Given the description of an element on the screen output the (x, y) to click on. 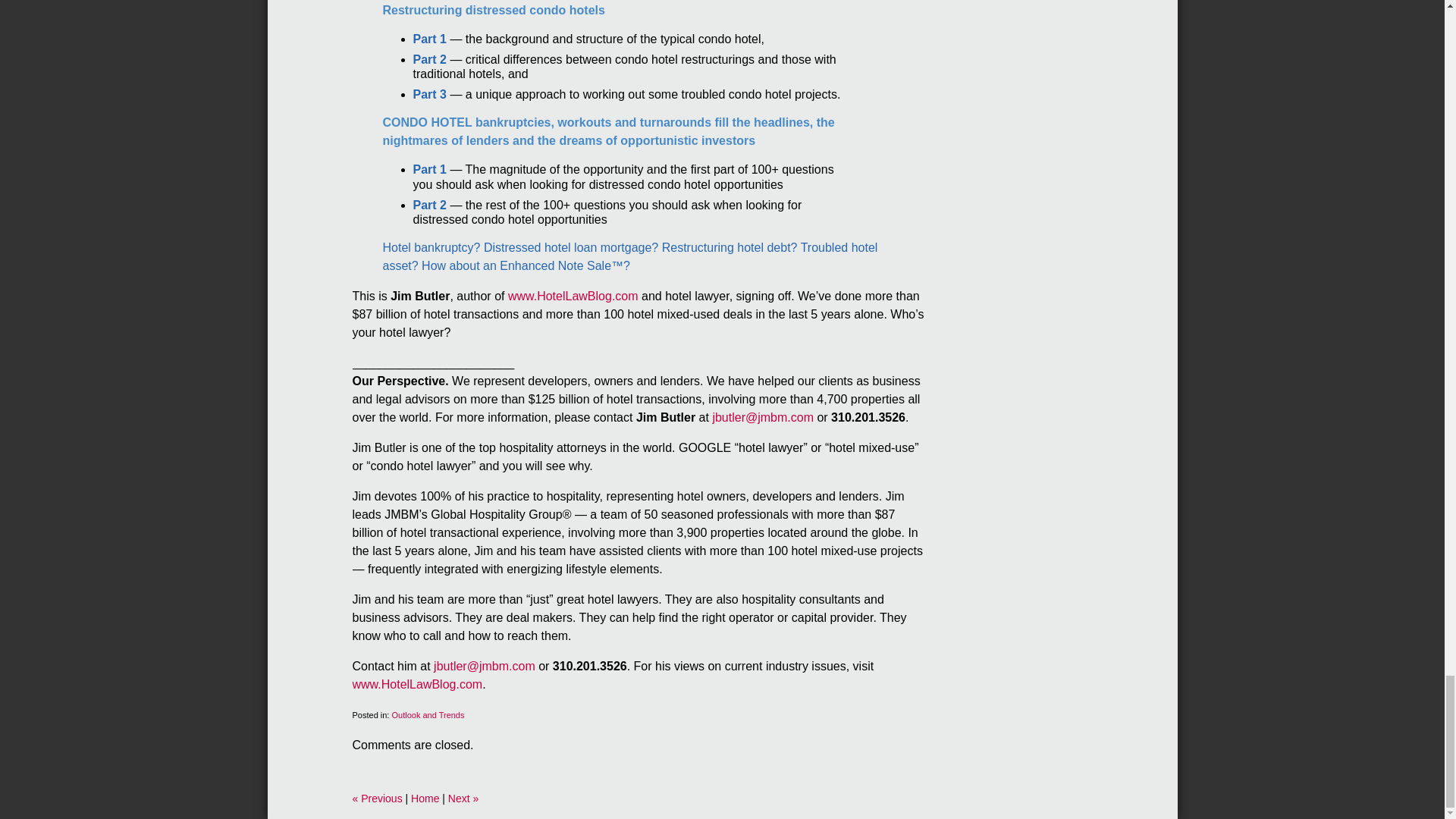
Part 1 (428, 169)
Part 3 (428, 93)
www.HotelLawBlog.com (573, 295)
Part 1 (428, 38)
Part 2 (428, 59)
View all posts in Outlook and Trends (427, 714)
Outlook and Trends (427, 714)
www.HotelLawBlog.com (416, 684)
Part 2 (428, 205)
